Given the description of an element on the screen output the (x, y) to click on. 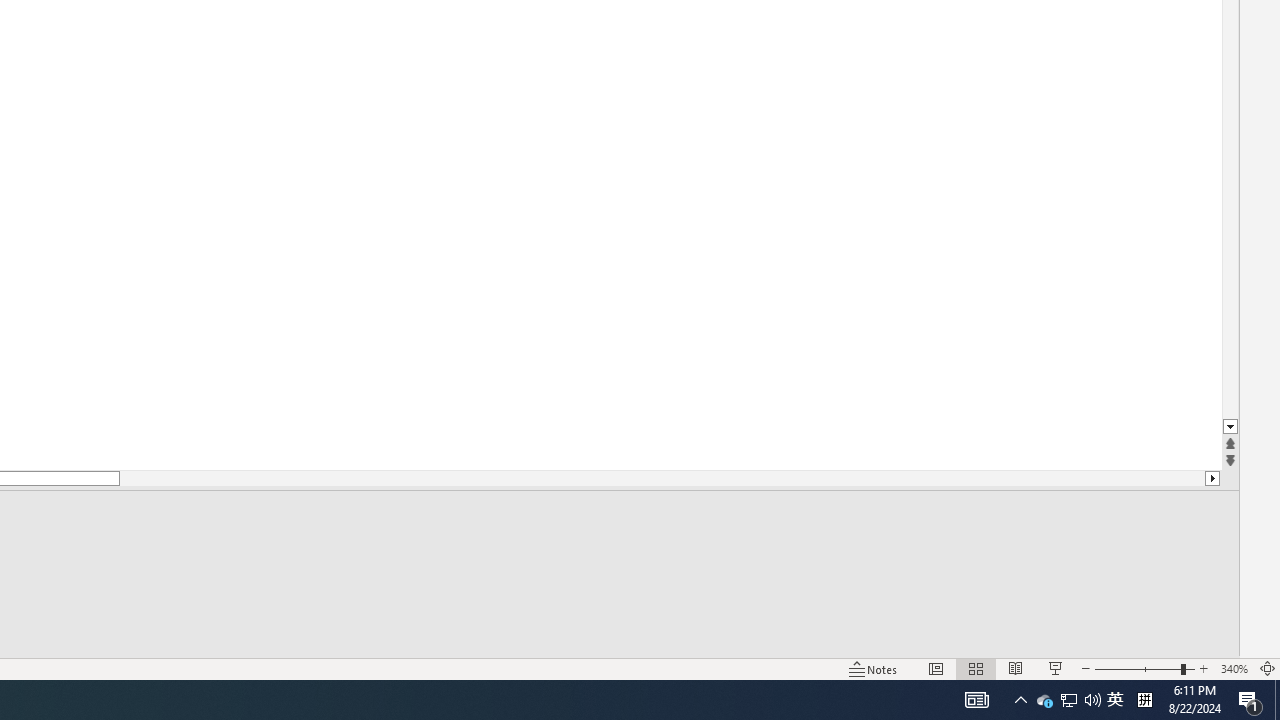
Zoom 340% (1234, 668)
